Given the description of an element on the screen output the (x, y) to click on. 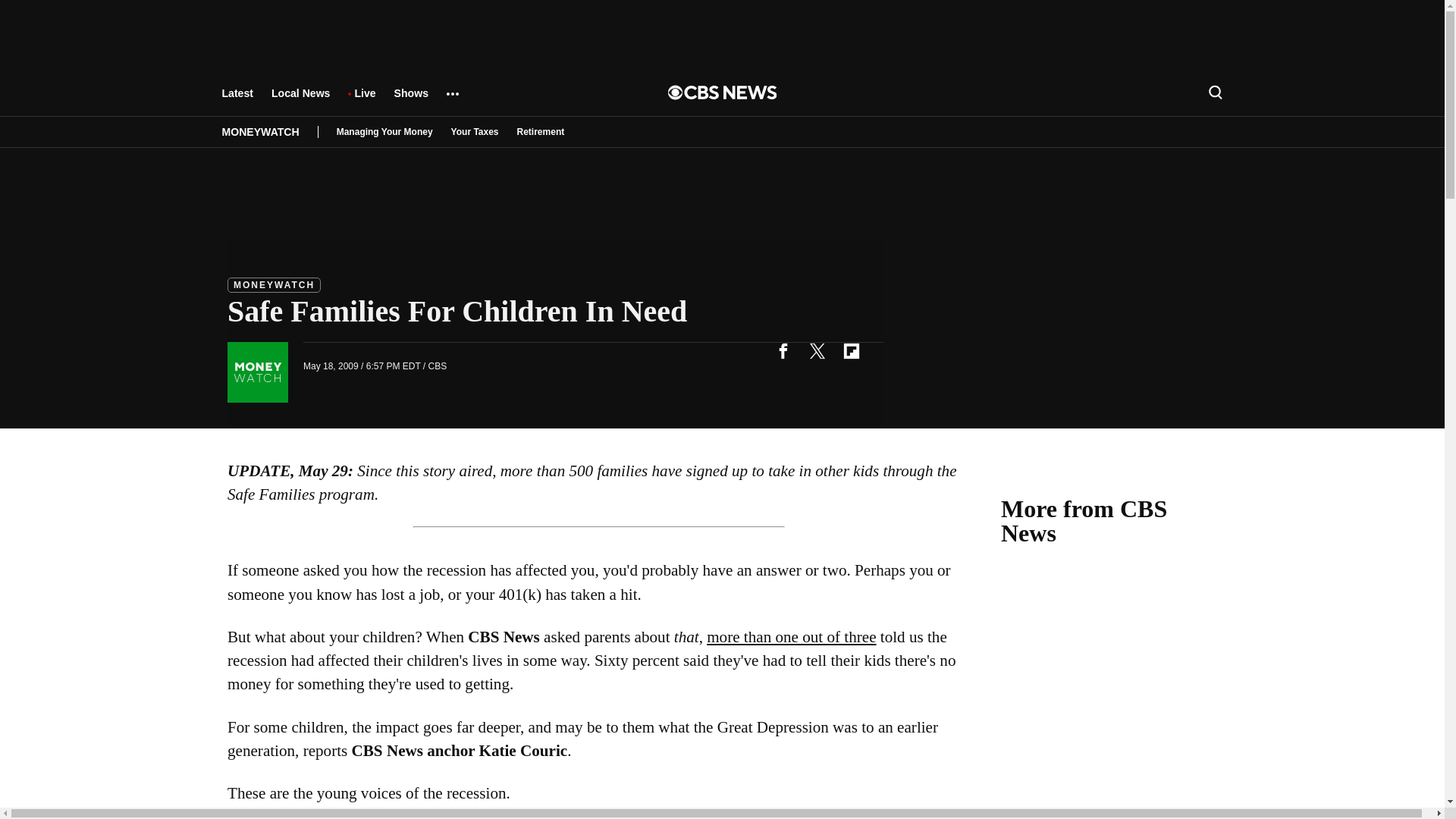
flipboard (850, 350)
Latest (236, 100)
twitter (816, 350)
facebook (782, 350)
Local News (300, 100)
Live (364, 100)
